Given the description of an element on the screen output the (x, y) to click on. 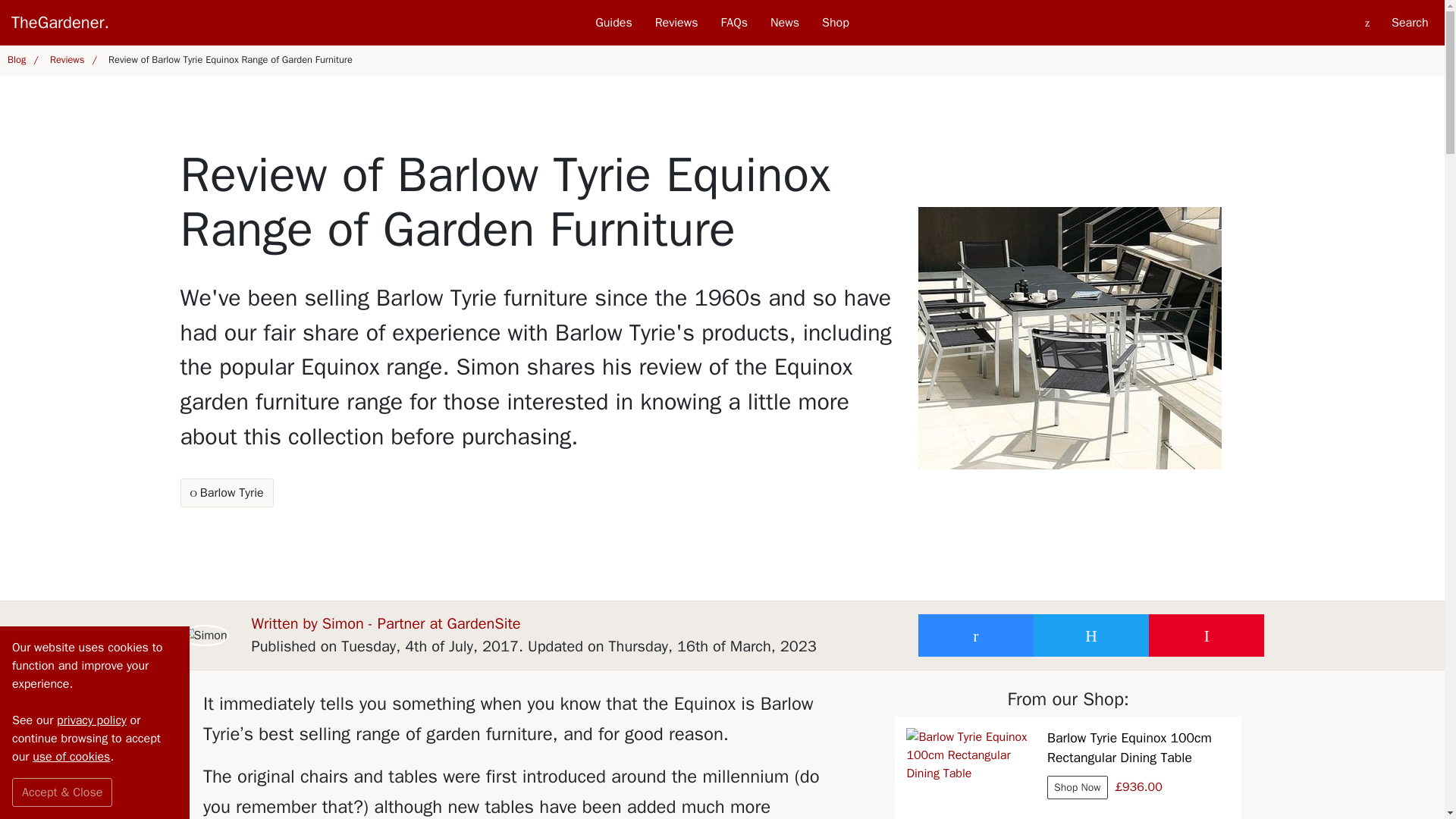
Written by Simon - Partner at GardenSite (386, 623)
TheGardener. (180, 23)
News (784, 22)
Reviews (71, 60)
Barlow Tyrie Equinox 100cm Rectangular Dining Table (970, 773)
Blog (21, 60)
Shop (835, 22)
Barlow Tyrie (226, 492)
Guides (613, 22)
FAQs (734, 22)
